Given the description of an element on the screen output the (x, y) to click on. 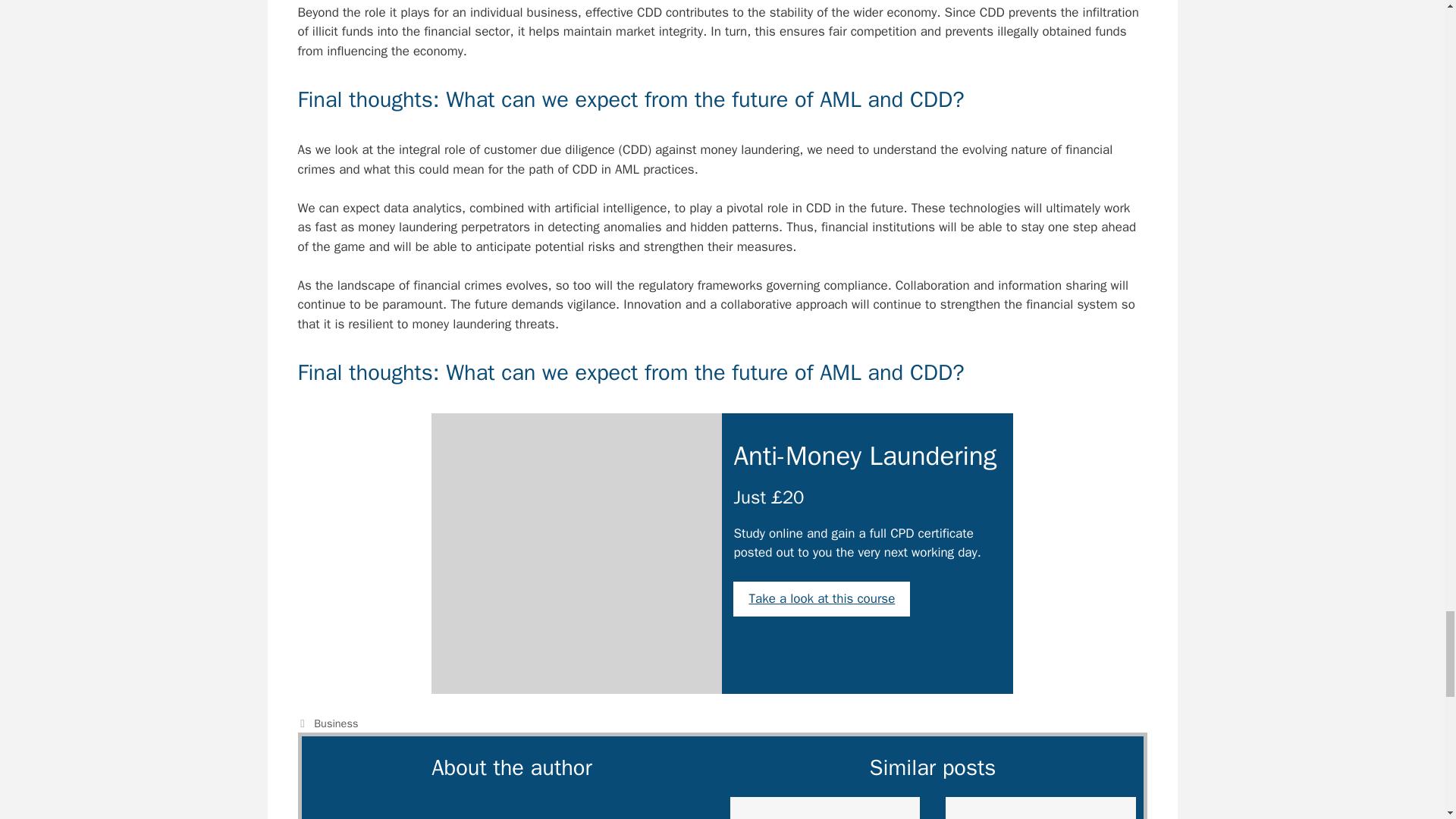
Anti Money Laundering (576, 553)
Take a look at this course (821, 598)
Business (336, 723)
